Given the description of an element on the screen output the (x, y) to click on. 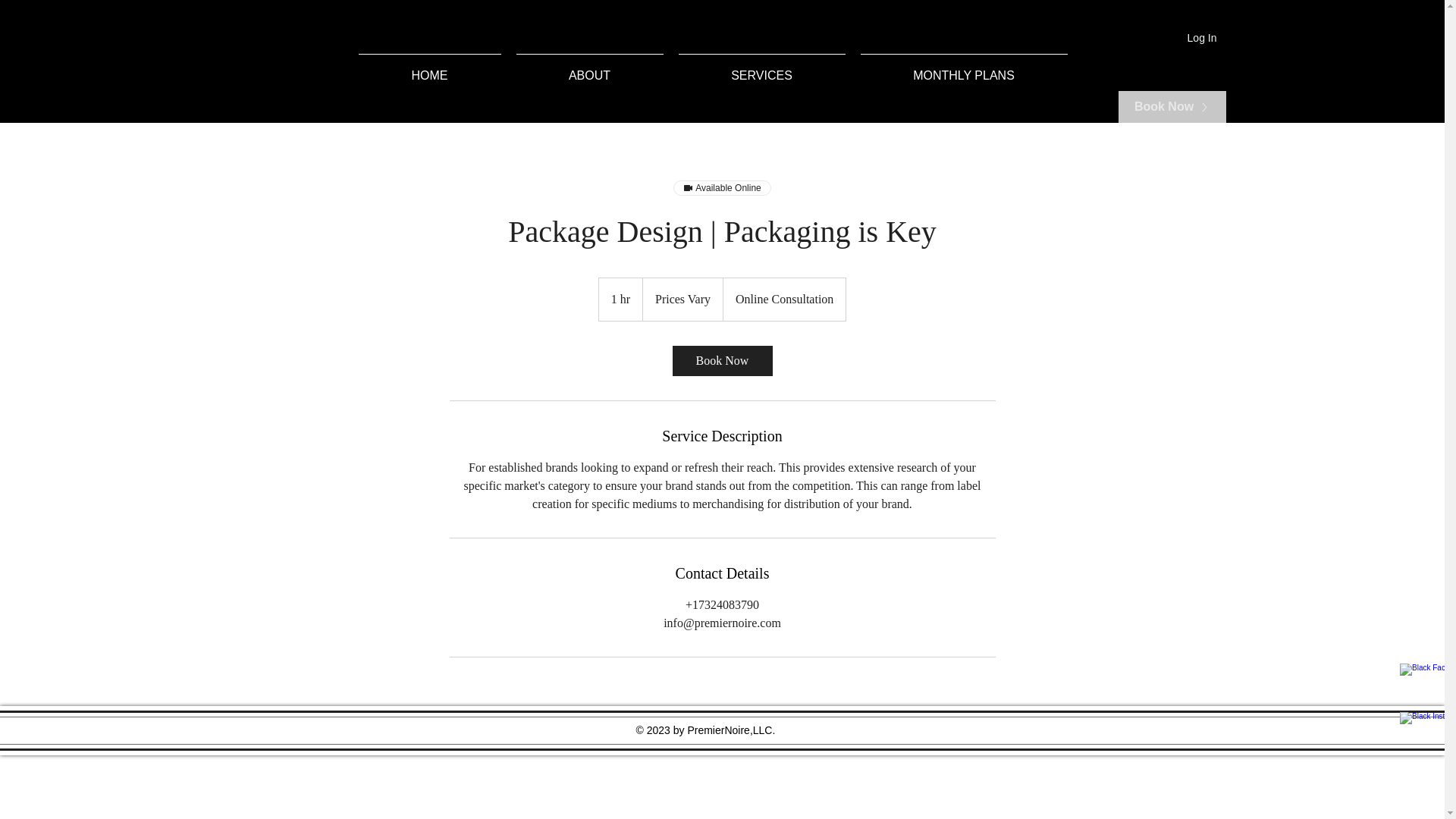
MONTHLY PLANS (962, 69)
Book Now (1171, 106)
ABOUT (588, 69)
SERVICES (760, 69)
HOME (429, 69)
Book Now (721, 360)
Log In (1201, 38)
